Given the description of an element on the screen output the (x, y) to click on. 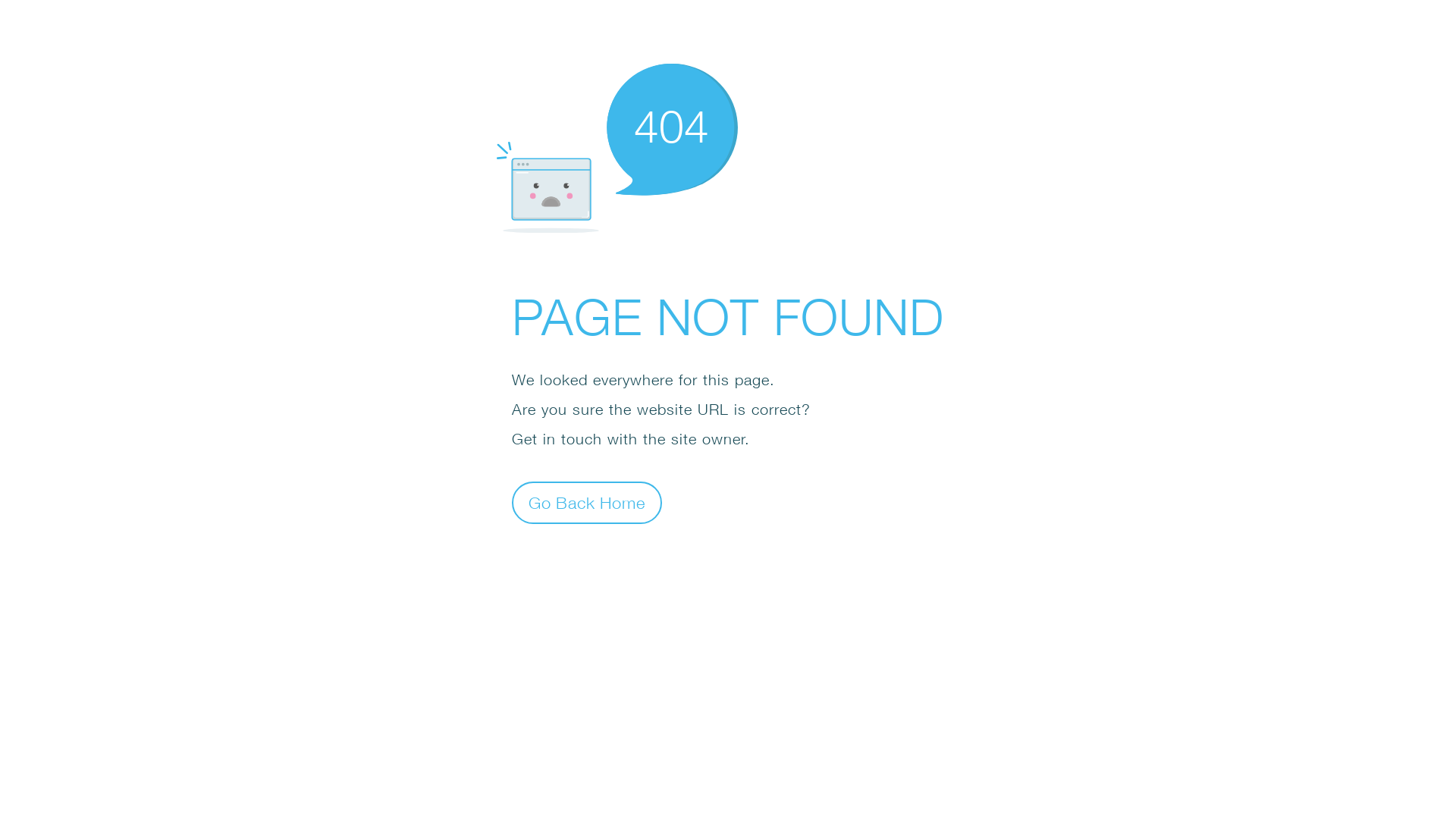
Go Back Home Element type: text (586, 502)
